Given the description of an element on the screen output the (x, y) to click on. 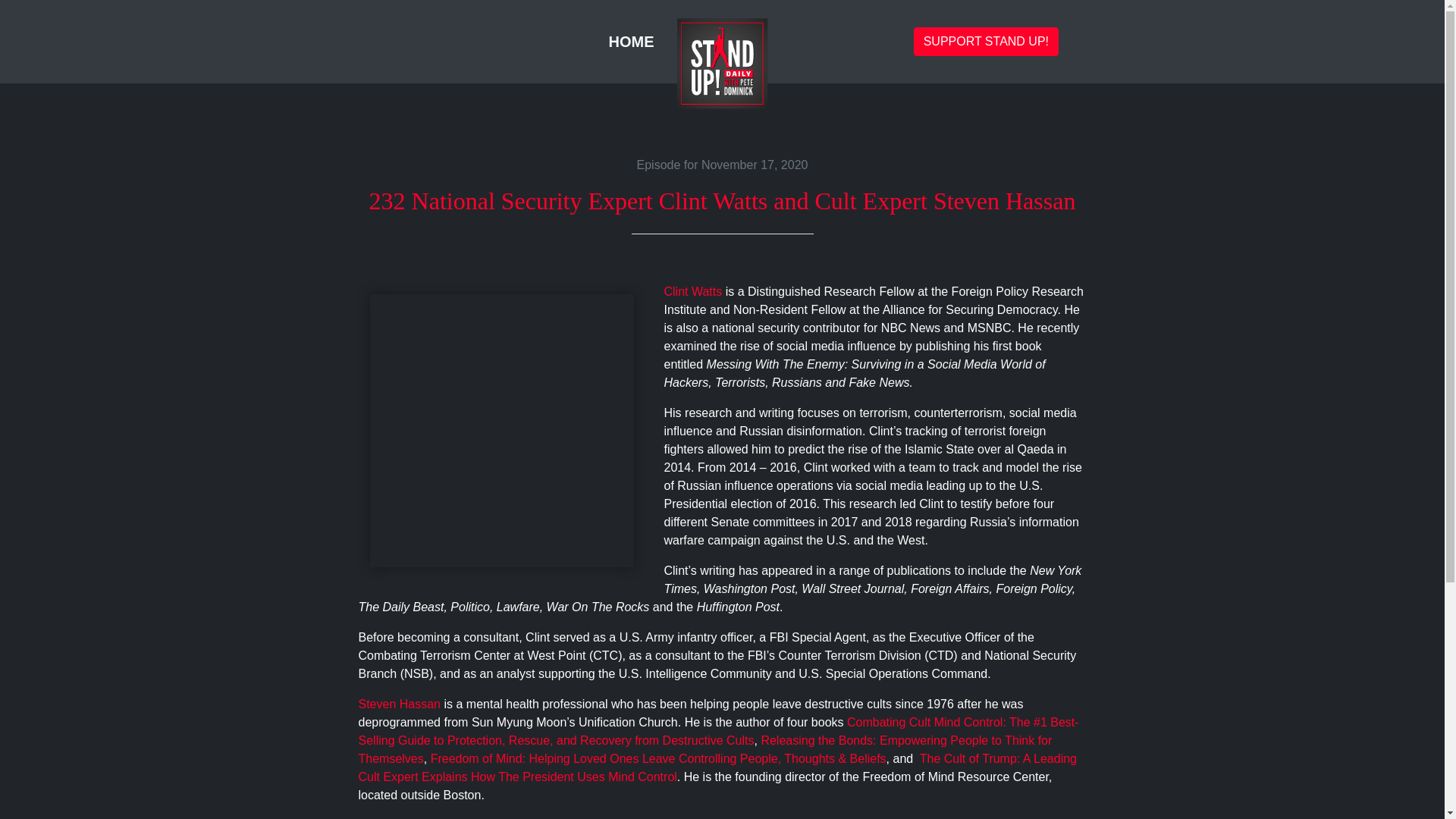
Steven Hassan (399, 703)
Clint Watts (692, 291)
SUPPORT STAND UP! (986, 41)
HOME (630, 41)
